Given the description of an element on the screen output the (x, y) to click on. 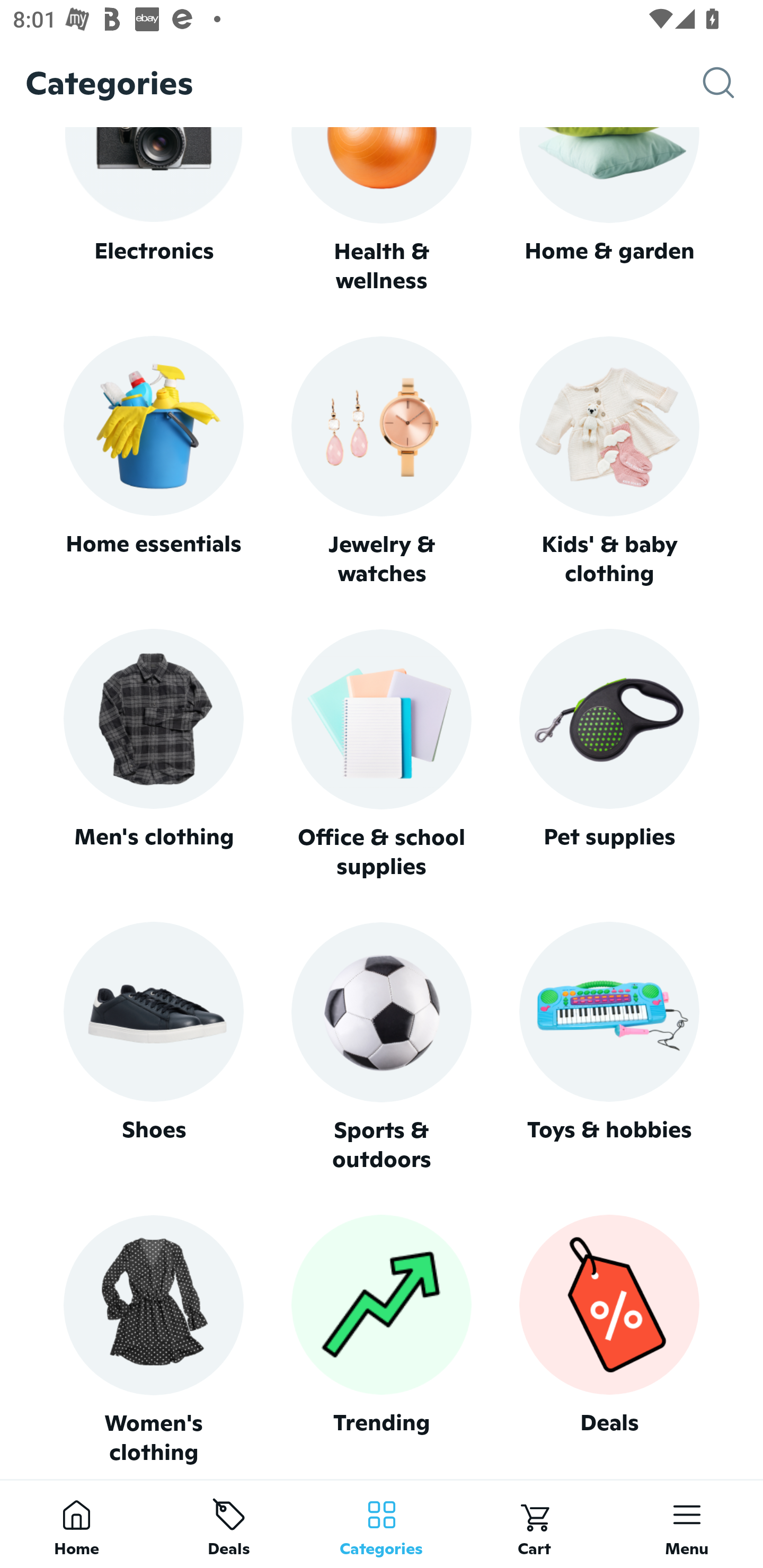
Search (732, 82)
Electronics (153, 210)
Health & wellness (381, 210)
Home & garden (609, 210)
Home essentials (153, 461)
Jewelry & watches (381, 462)
Kids' & baby clothing (609, 462)
Men's clothing (153, 753)
Pet supplies (609, 753)
Office & school supplies (381, 753)
Shoes (153, 1046)
Toys & hobbies (609, 1046)
Sports & outdoors (381, 1046)
Trending (381, 1340)
Deals (609, 1340)
Women's clothing (153, 1340)
Home (76, 1523)
Deals (228, 1523)
Categories (381, 1523)
Cart (533, 1523)
Menu (686, 1523)
